Given the description of an element on the screen output the (x, y) to click on. 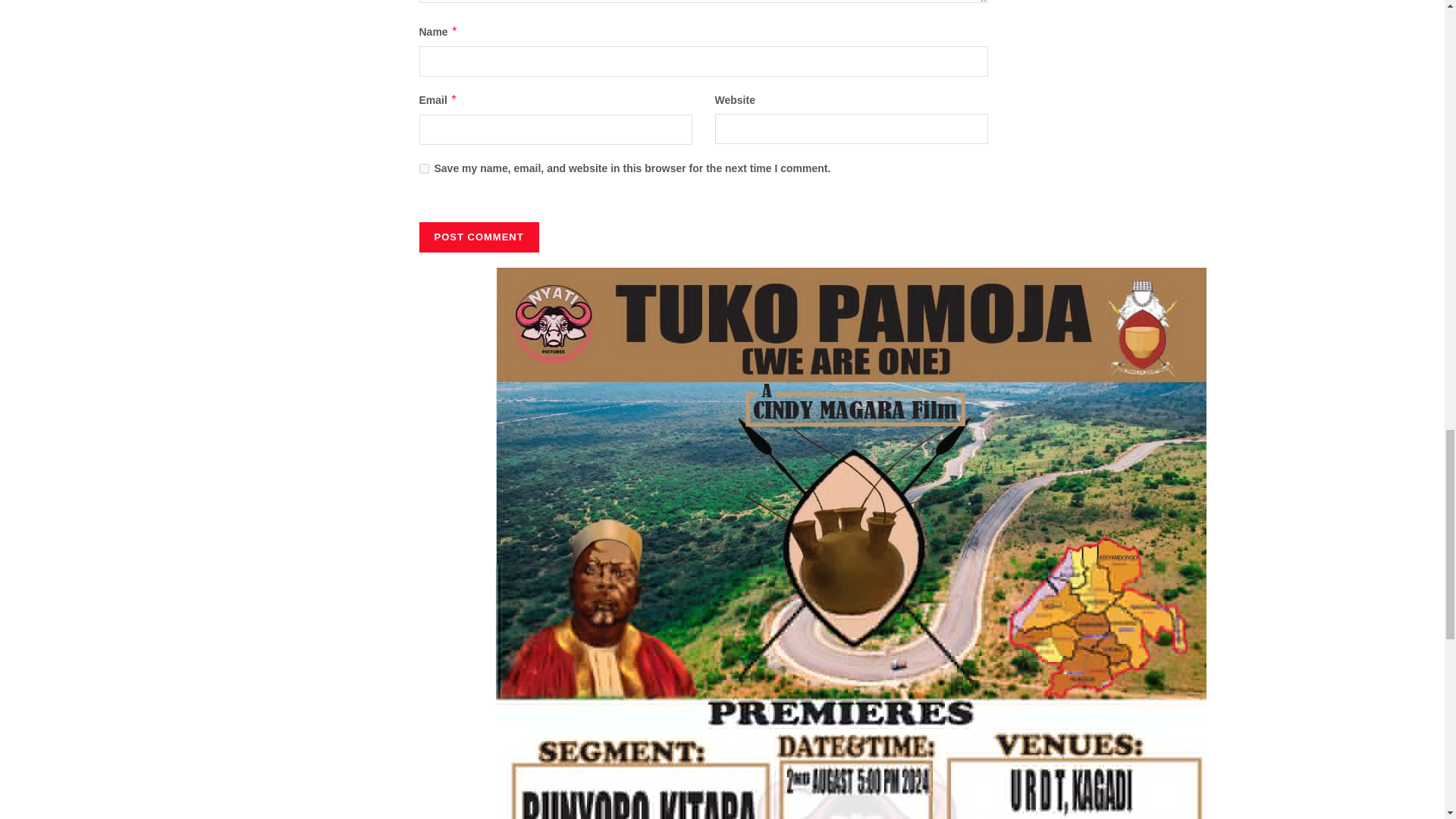
Post Comment (478, 236)
yes (423, 168)
